Given the description of an element on the screen output the (x, y) to click on. 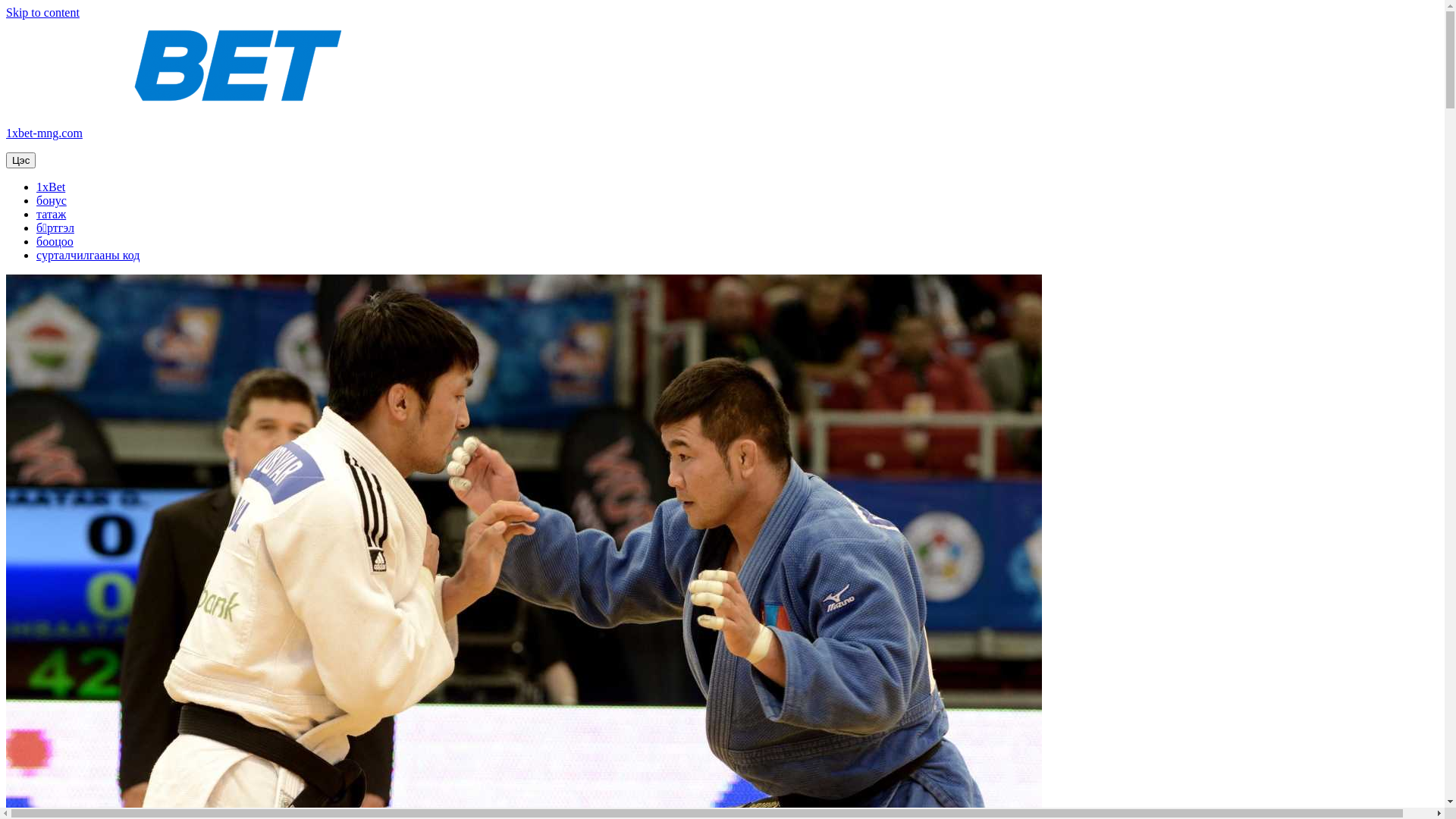
1xbet-mng.com Element type: text (44, 132)
1xBet Element type: text (50, 186)
Skip to content Element type: text (42, 12)
